Given the description of an element on the screen output the (x, y) to click on. 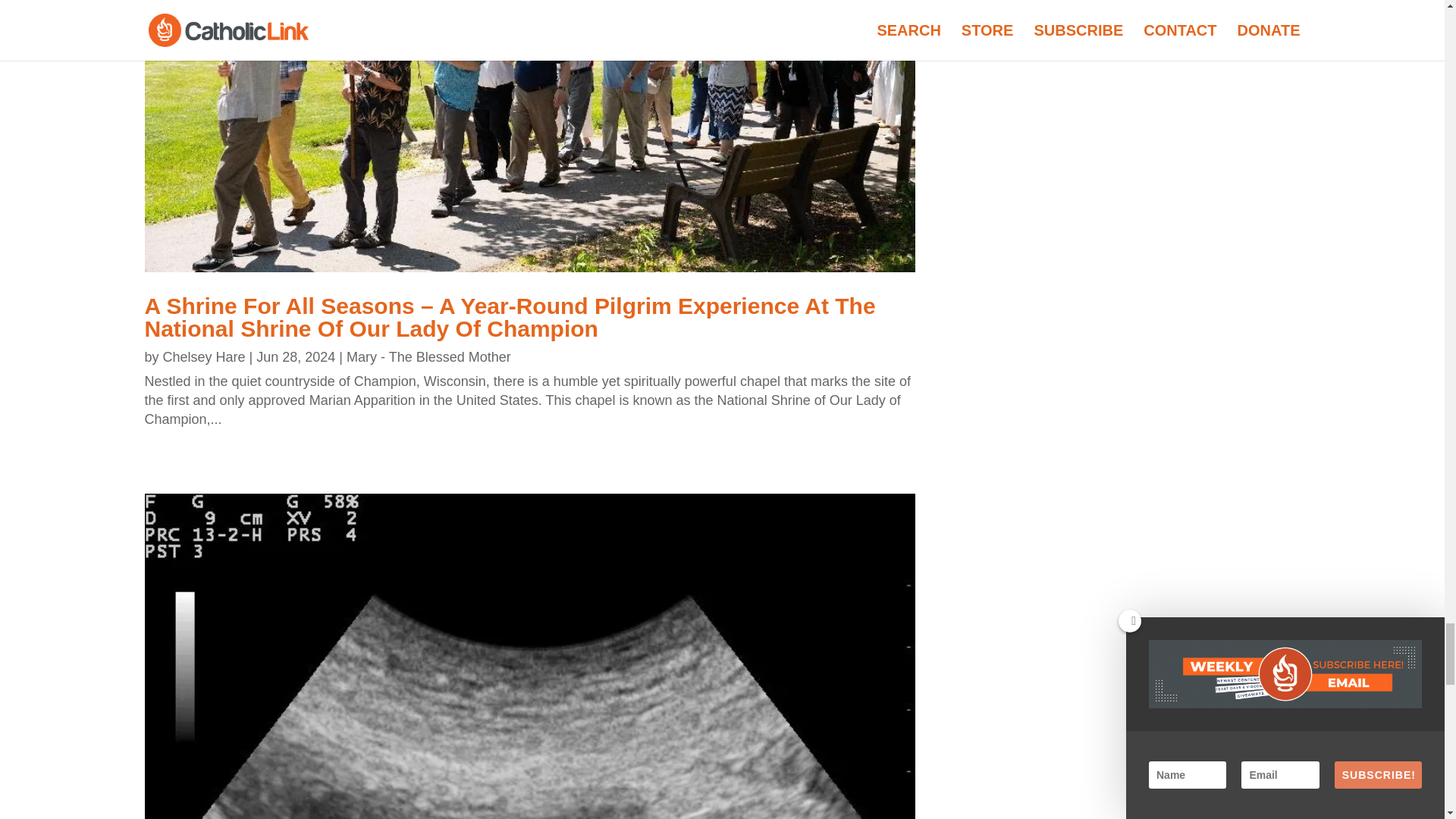
Posts by Chelsey Hare (204, 356)
